Given the description of an element on the screen output the (x, y) to click on. 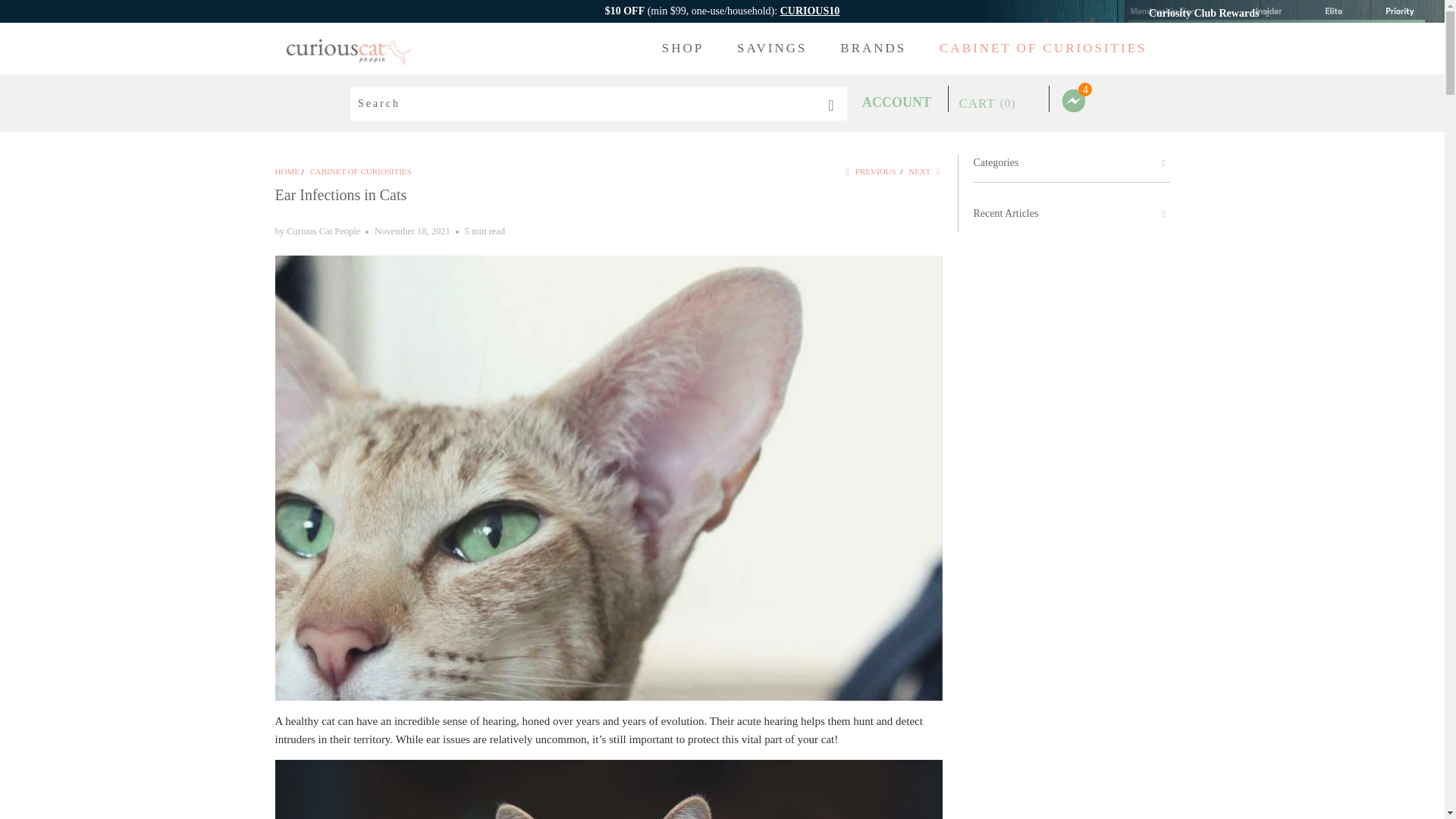
Cabinet of Curiosities (359, 171)
ACCOUNT  (896, 102)
